Given the description of an element on the screen output the (x, y) to click on. 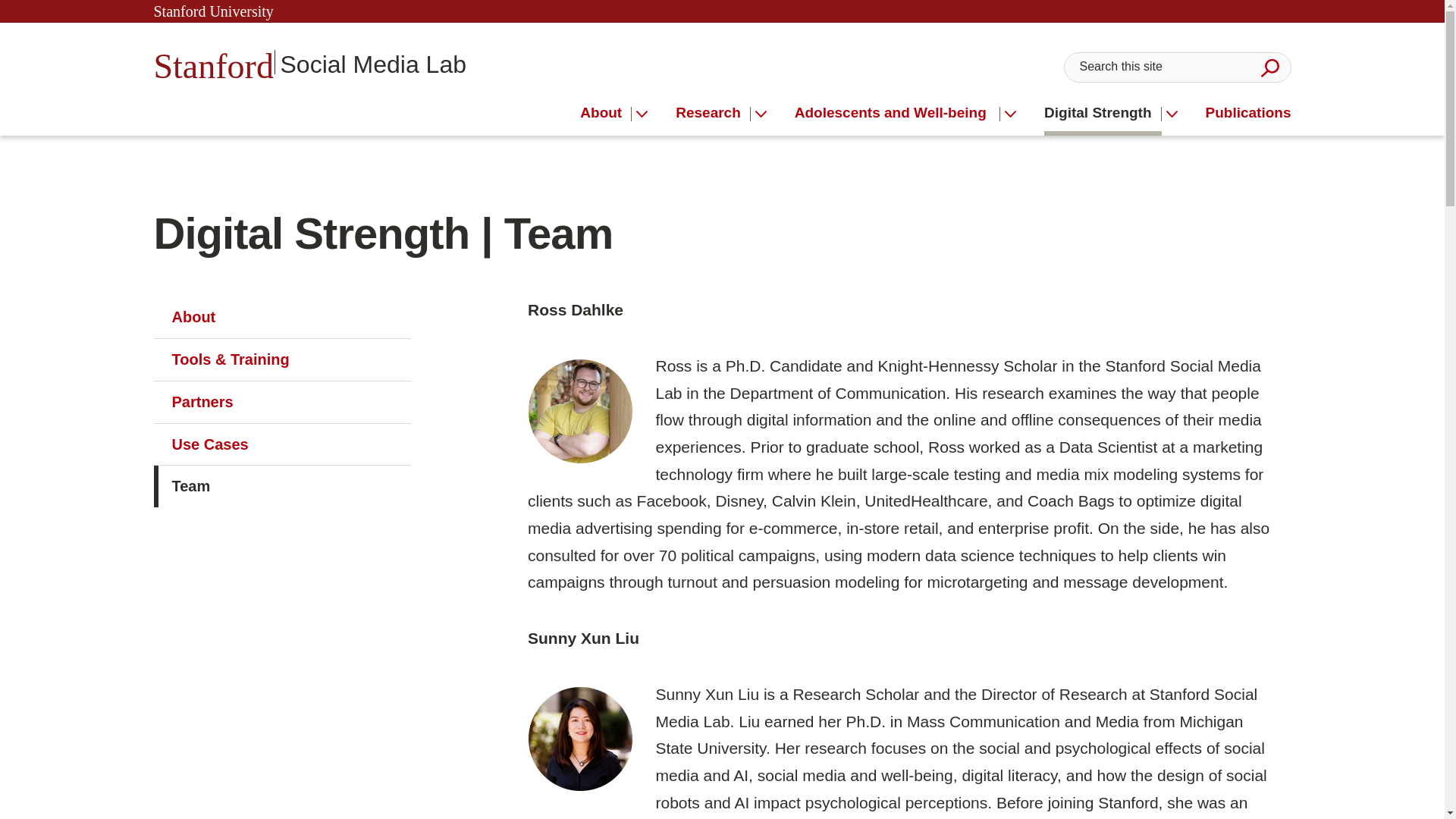
Adolescents and Well-being (897, 112)
Team (281, 486)
About (605, 112)
Use Cases (281, 445)
About (281, 317)
Publications (1248, 112)
Submit Search (1269, 67)
Research (713, 112)
Partners (281, 402)
